Given the description of an element on the screen output the (x, y) to click on. 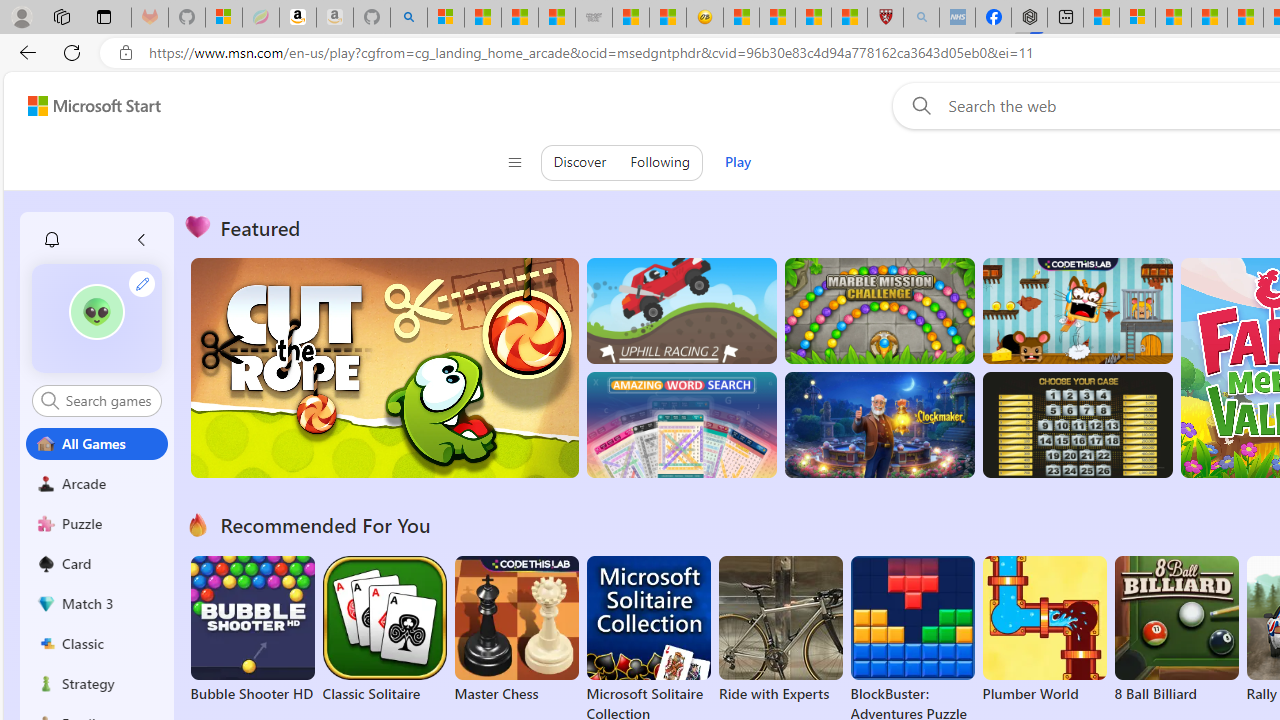
14 Common Myths Debunked By Scientific Facts (1209, 17)
Marble Mission : Challenge (879, 310)
Play (737, 161)
Discover (580, 162)
Combat Siege (593, 17)
AutomationID: control (108, 400)
Cut the Rope (383, 367)
Class: profile-edit (142, 283)
Ride with Experts (780, 694)
